Given the description of an element on the screen output the (x, y) to click on. 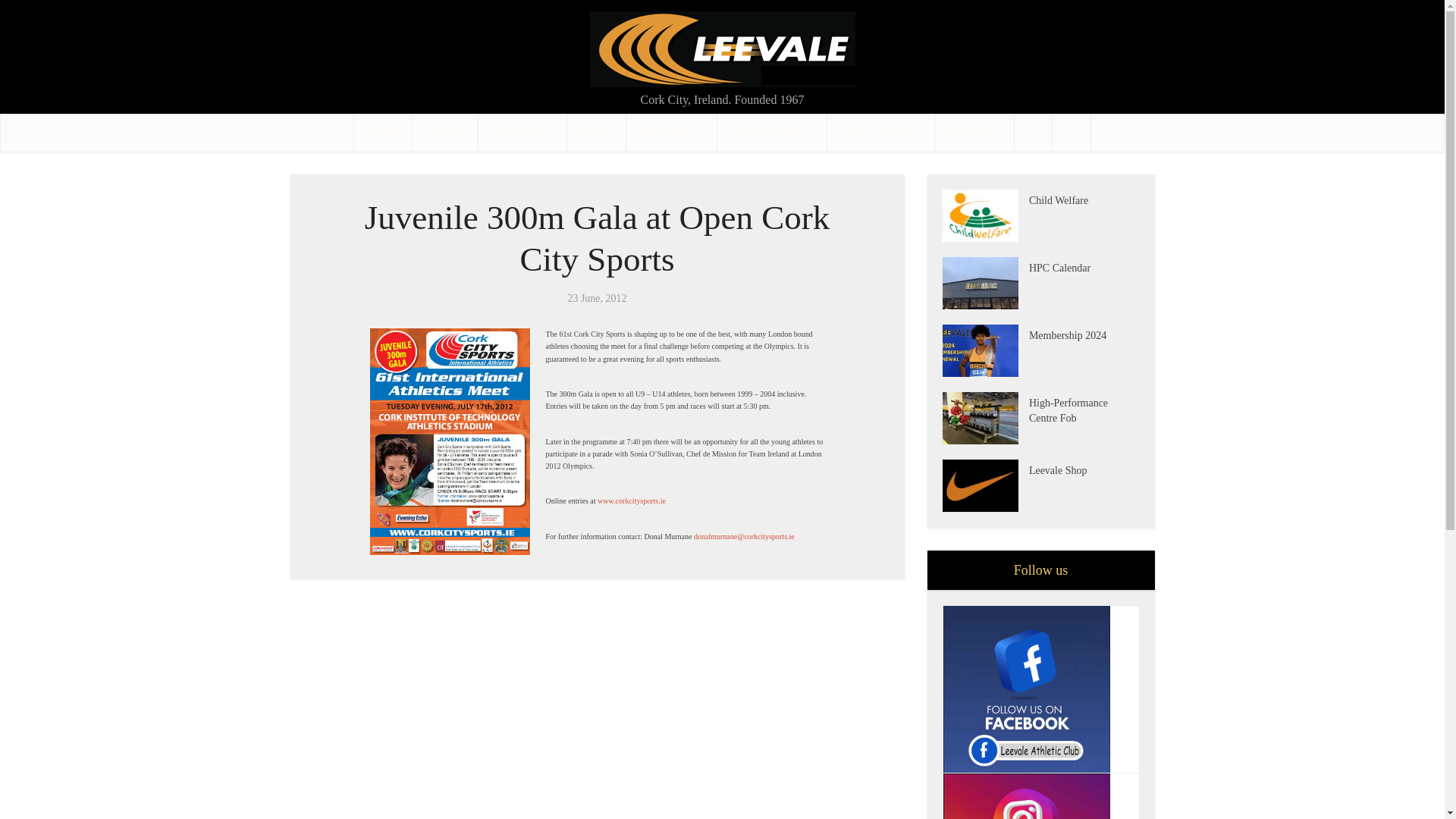
QUICK LINKS (881, 132)
HPC Calendar (1084, 266)
HOME (382, 132)
High-Performance Centre Fob (984, 418)
INFO (596, 132)
NEWS (444, 132)
Membership 2024 (1084, 333)
Leevale Shop (984, 485)
Leevale Shop (1084, 468)
Membership 2024 (984, 350)
Child Welfare (984, 215)
FIXTURES (523, 132)
High-Performance Centre Fob (1084, 408)
ONLINE SHOP (772, 132)
Child Welfare (1084, 198)
